Given the description of an element on the screen output the (x, y) to click on. 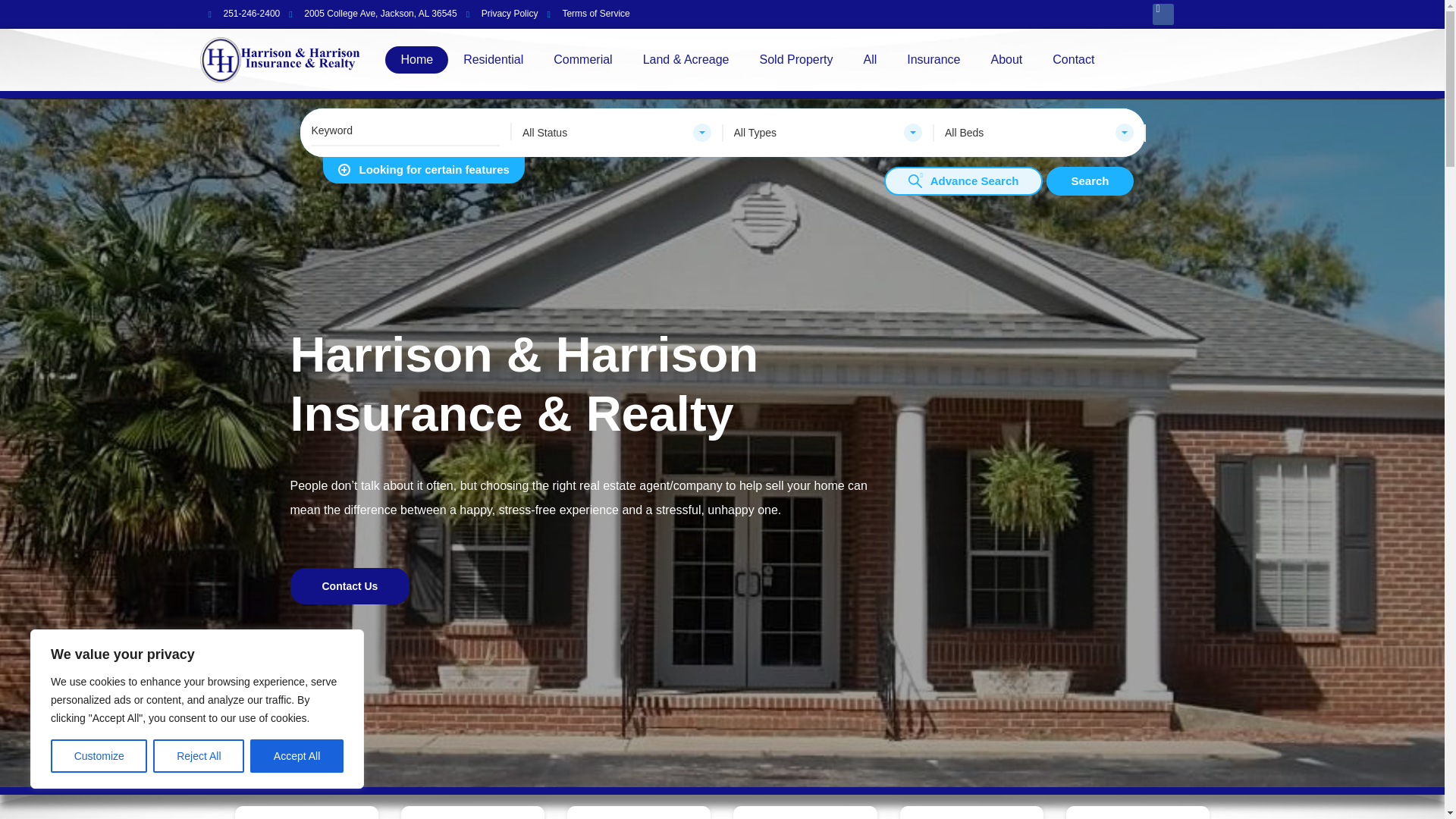
All Beds (1038, 132)
Accept All (296, 756)
Sold Property (796, 59)
Customize (98, 756)
Privacy Policy (501, 14)
Terms of Service (587, 14)
All Status (616, 132)
Home (416, 59)
Commerial (582, 59)
Contact (1072, 59)
All Types (827, 132)
All Status (616, 132)
About (1005, 59)
Insurance (933, 59)
Residential (493, 59)
